Given the description of an element on the screen output the (x, y) to click on. 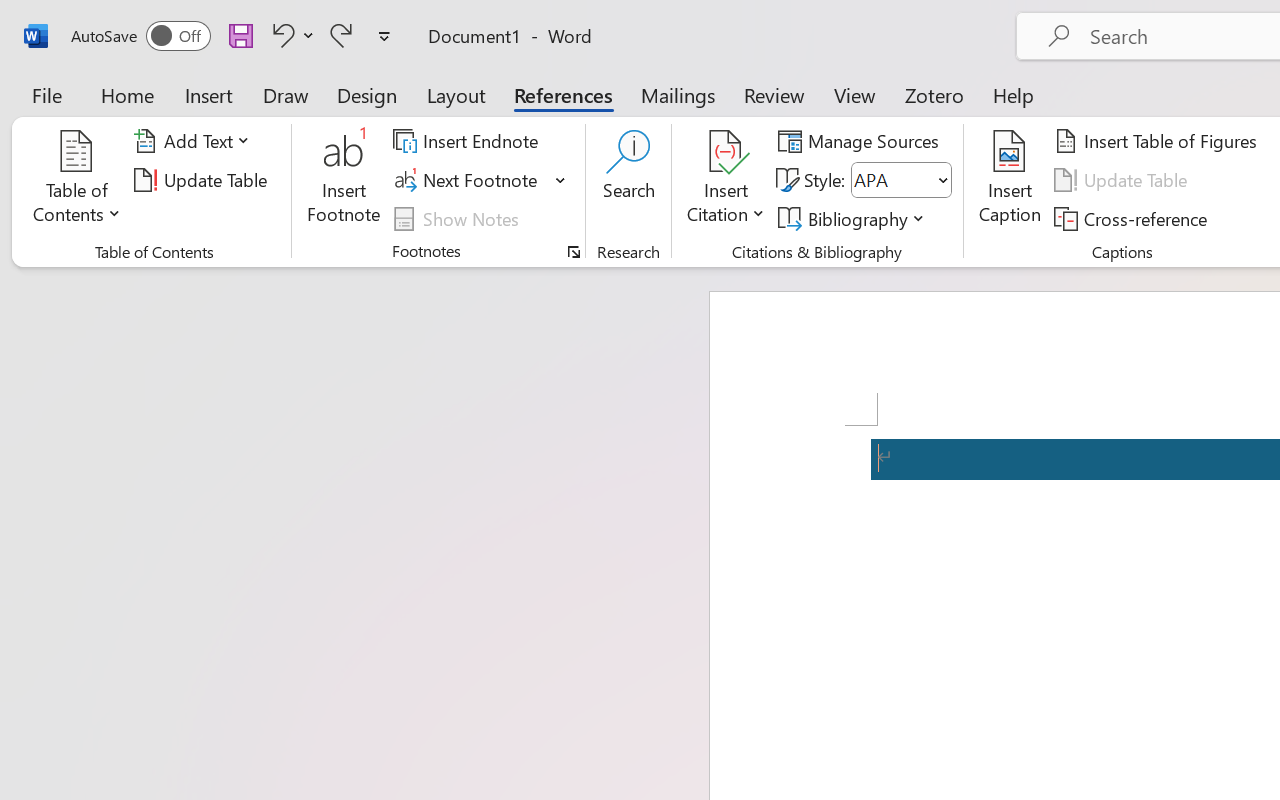
Bibliography (854, 218)
Redo Apply Quick Style (341, 35)
Next Footnote (479, 179)
Manage Sources... (861, 141)
Next Footnote (468, 179)
Undo Apply Quick Style Set (280, 35)
Update Table (1124, 179)
Search (628, 179)
Style (892, 179)
